Given the description of an element on the screen output the (x, y) to click on. 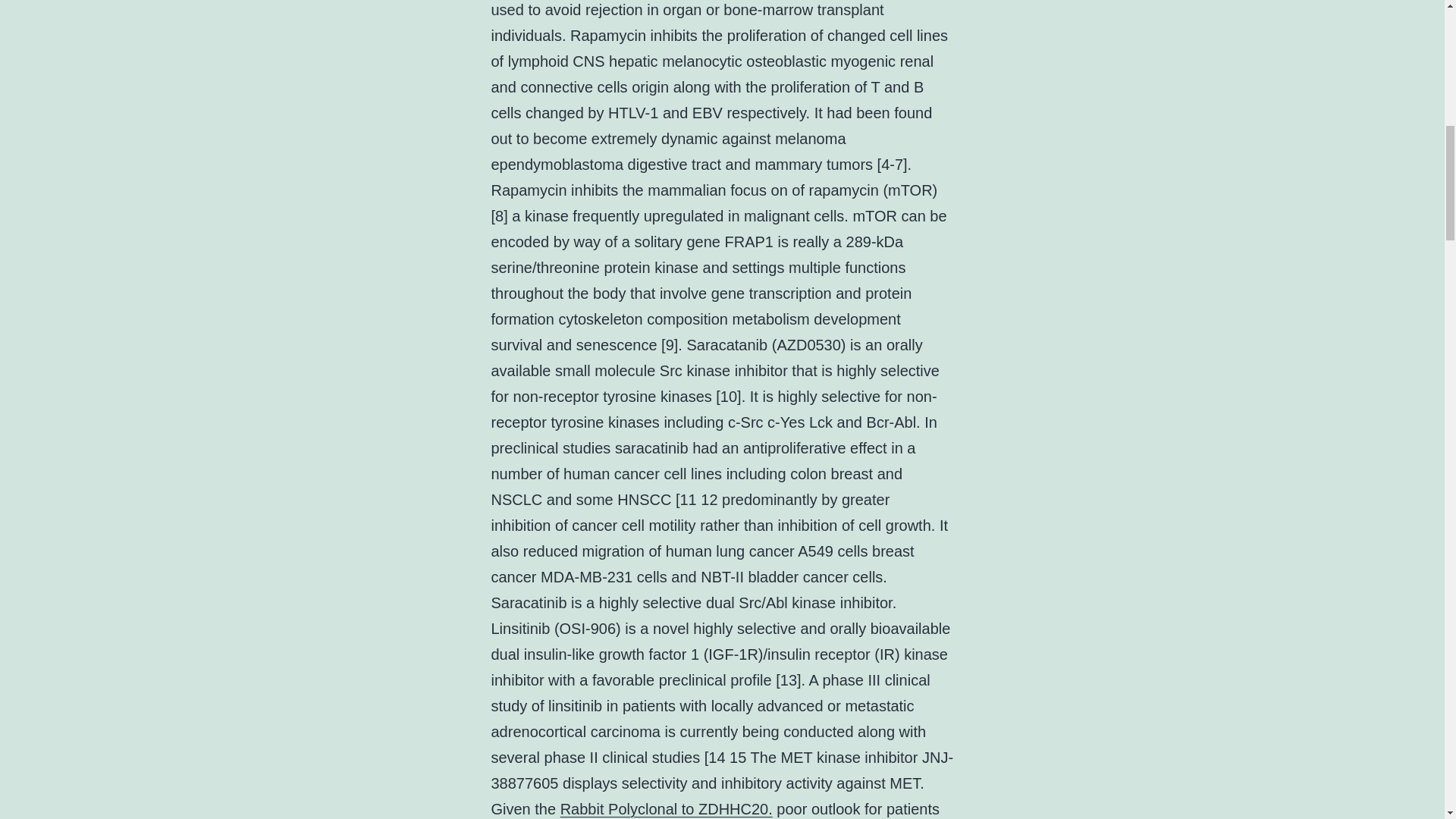
Rabbit Polyclonal to ZDHHC20. (666, 808)
